Given the description of an element on the screen output the (x, y) to click on. 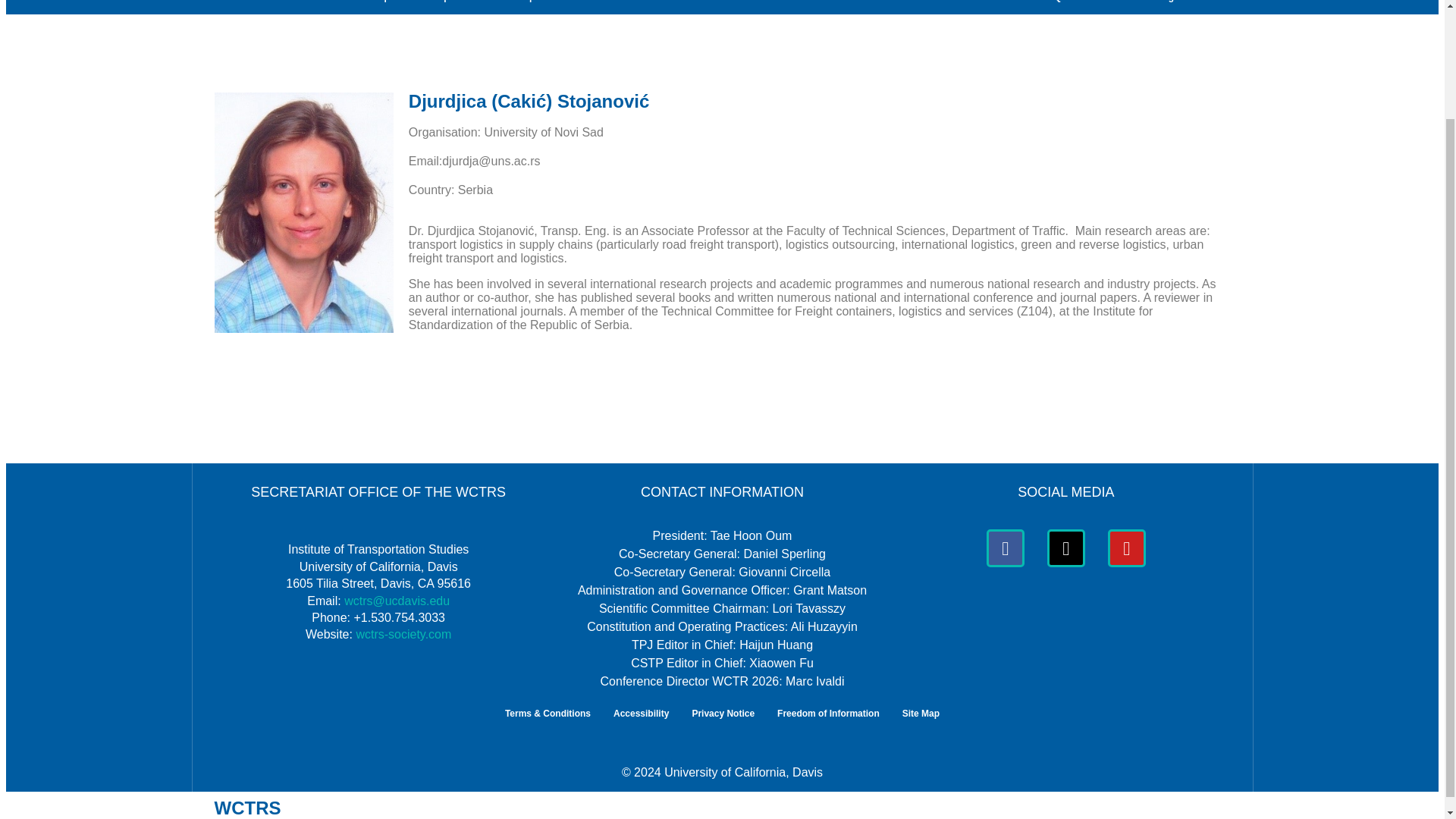
WCTRS-Y Initiative (958, 7)
WCTRS Publications (764, 7)
WCTRS Membership (350, 7)
World Conferences (634, 7)
Special Interest Groups (494, 7)
Prizes (860, 7)
FAQs (1054, 7)
Our Partner Organisations (1160, 7)
About (243, 7)
